Given the description of an element on the screen output the (x, y) to click on. 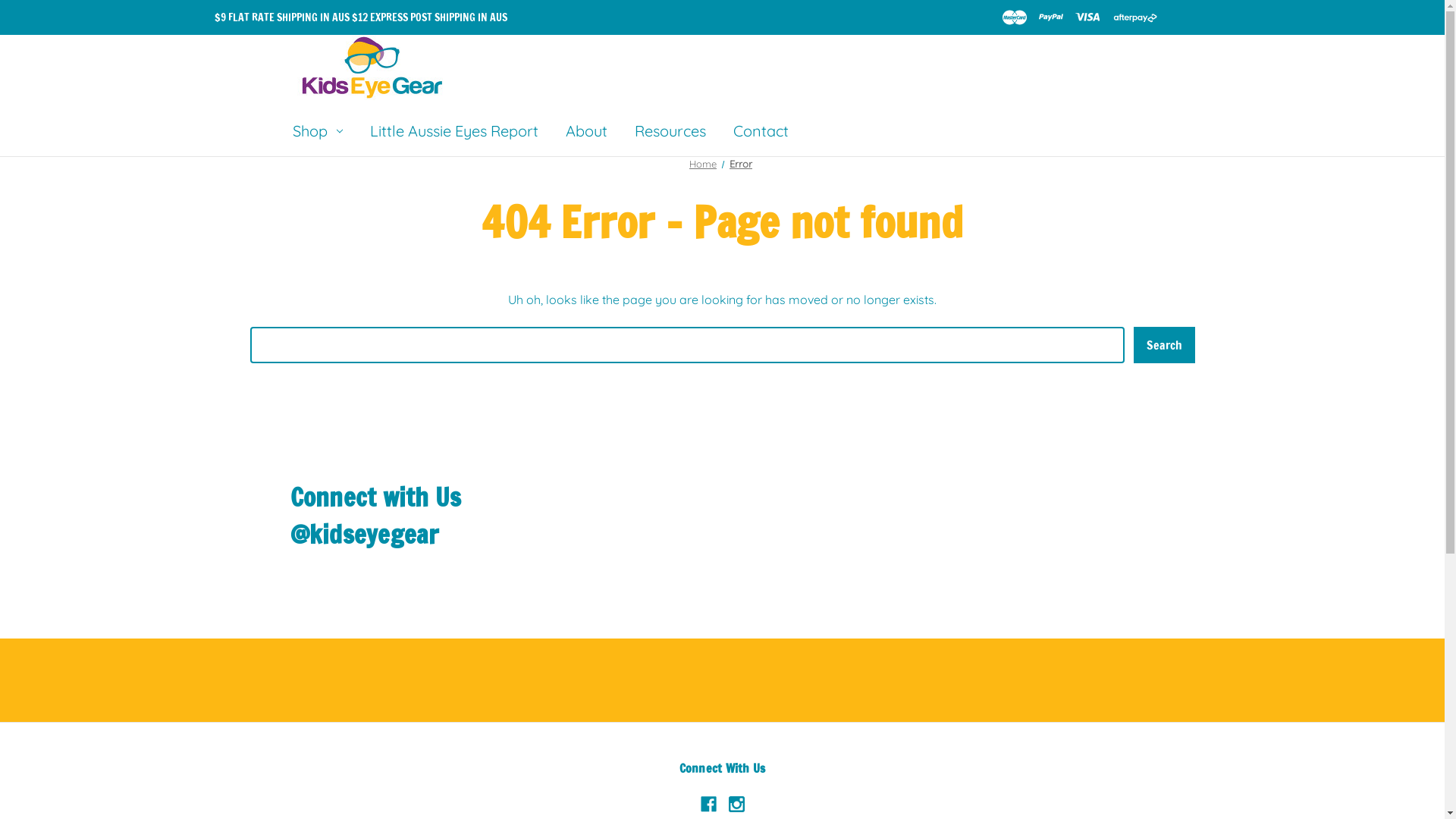
Search Element type: text (1163, 344)
About Element type: text (586, 133)
Resources Element type: text (669, 133)
Kids Eye Gear Element type: hover (373, 67)
Little Aussie Eyes Report Element type: text (454, 133)
Home Element type: text (702, 163)
Shop Element type: text (317, 133)
Contact Element type: text (759, 133)
Error Element type: text (740, 163)
Connect with Us
@kidseyegear Element type: text (721, 515)
